Given the description of an element on the screen output the (x, y) to click on. 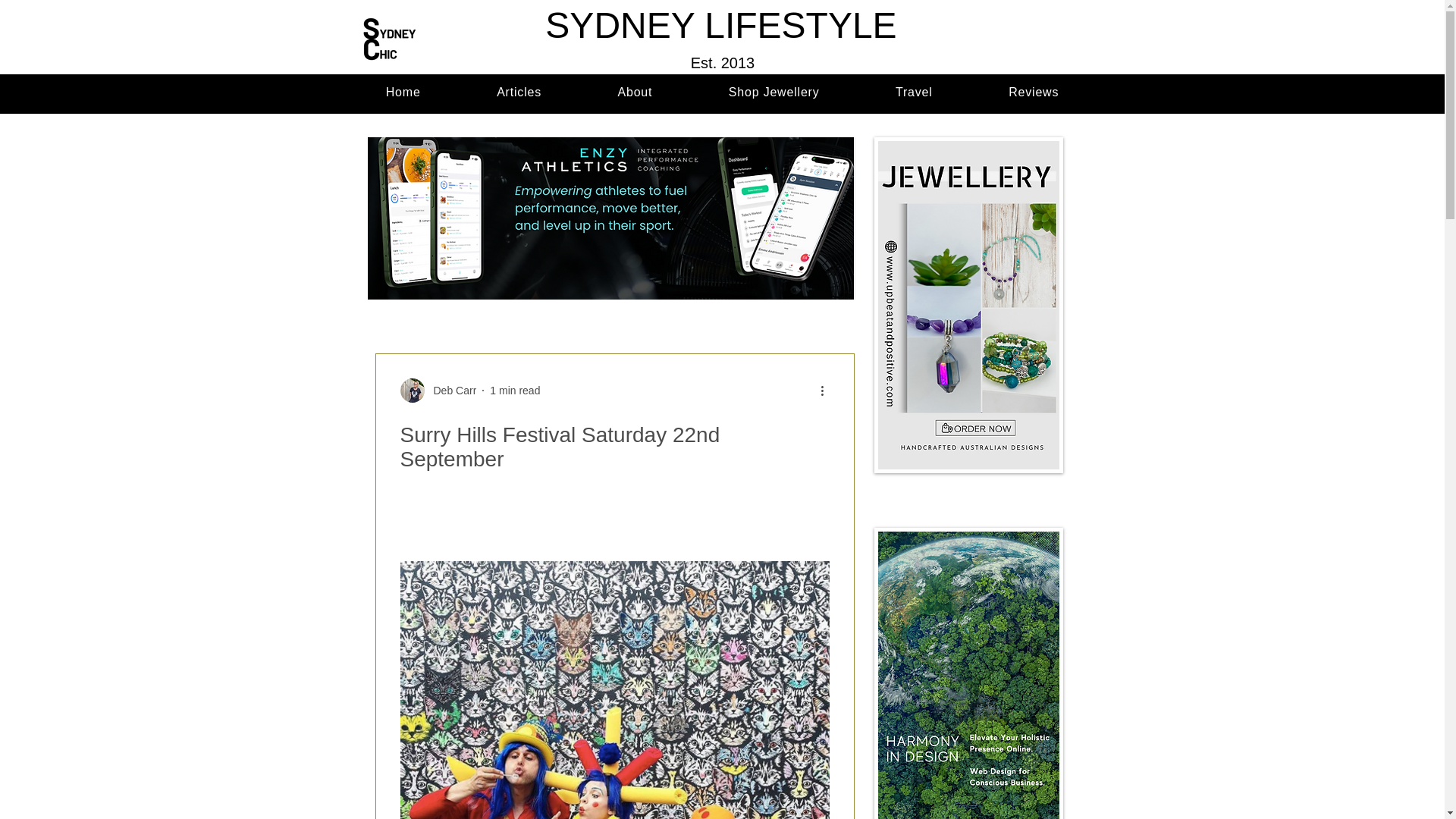
Reviews (1034, 92)
Articles (518, 92)
Shop Jewellery (774, 92)
About (634, 92)
Deb Carr (438, 390)
Travel (914, 92)
Deb Carr (451, 390)
1 min read (514, 390)
Home (402, 92)
